Given the description of an element on the screen output the (x, y) to click on. 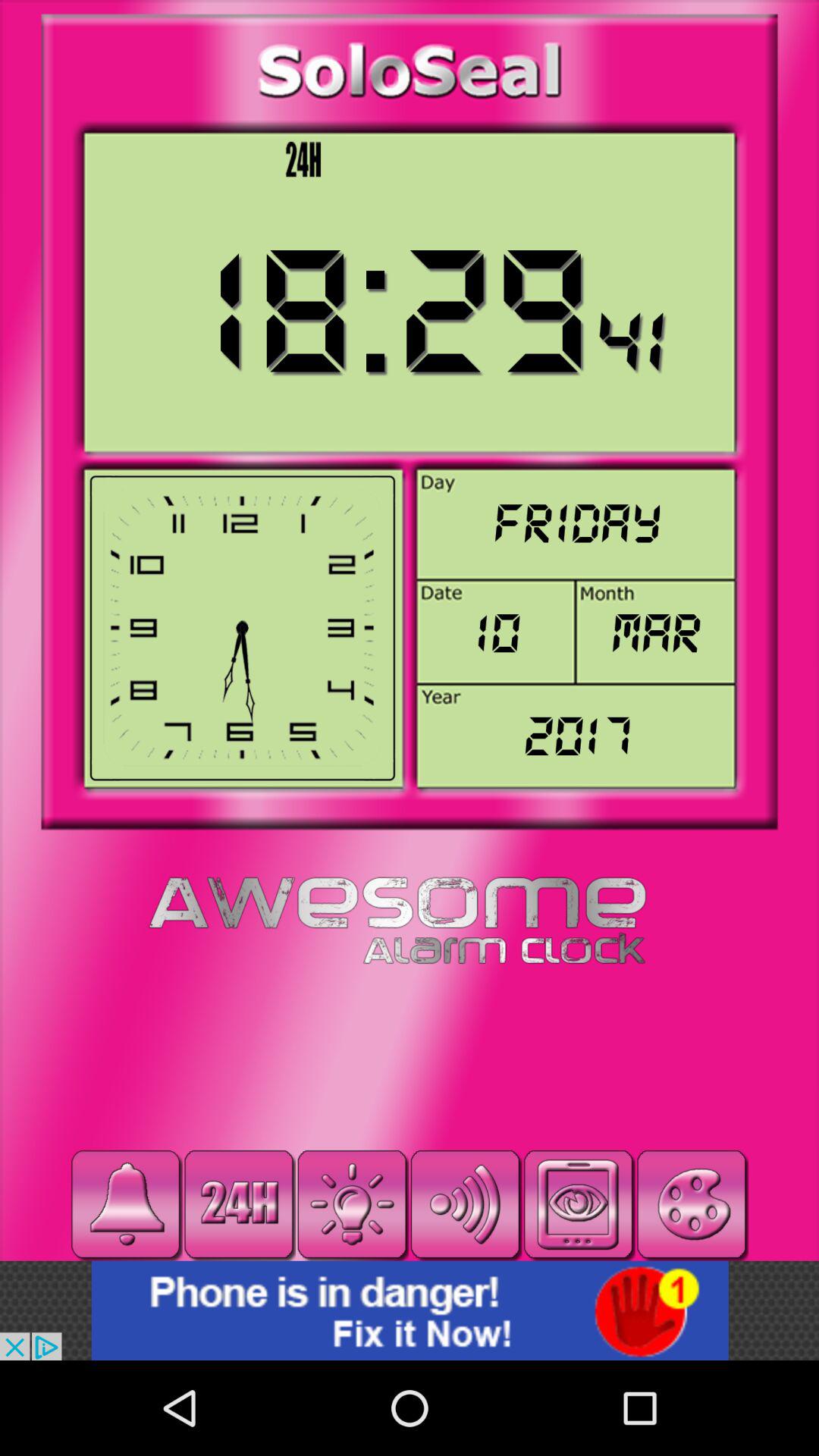
take photo (578, 1203)
